Given the description of an element on the screen output the (x, y) to click on. 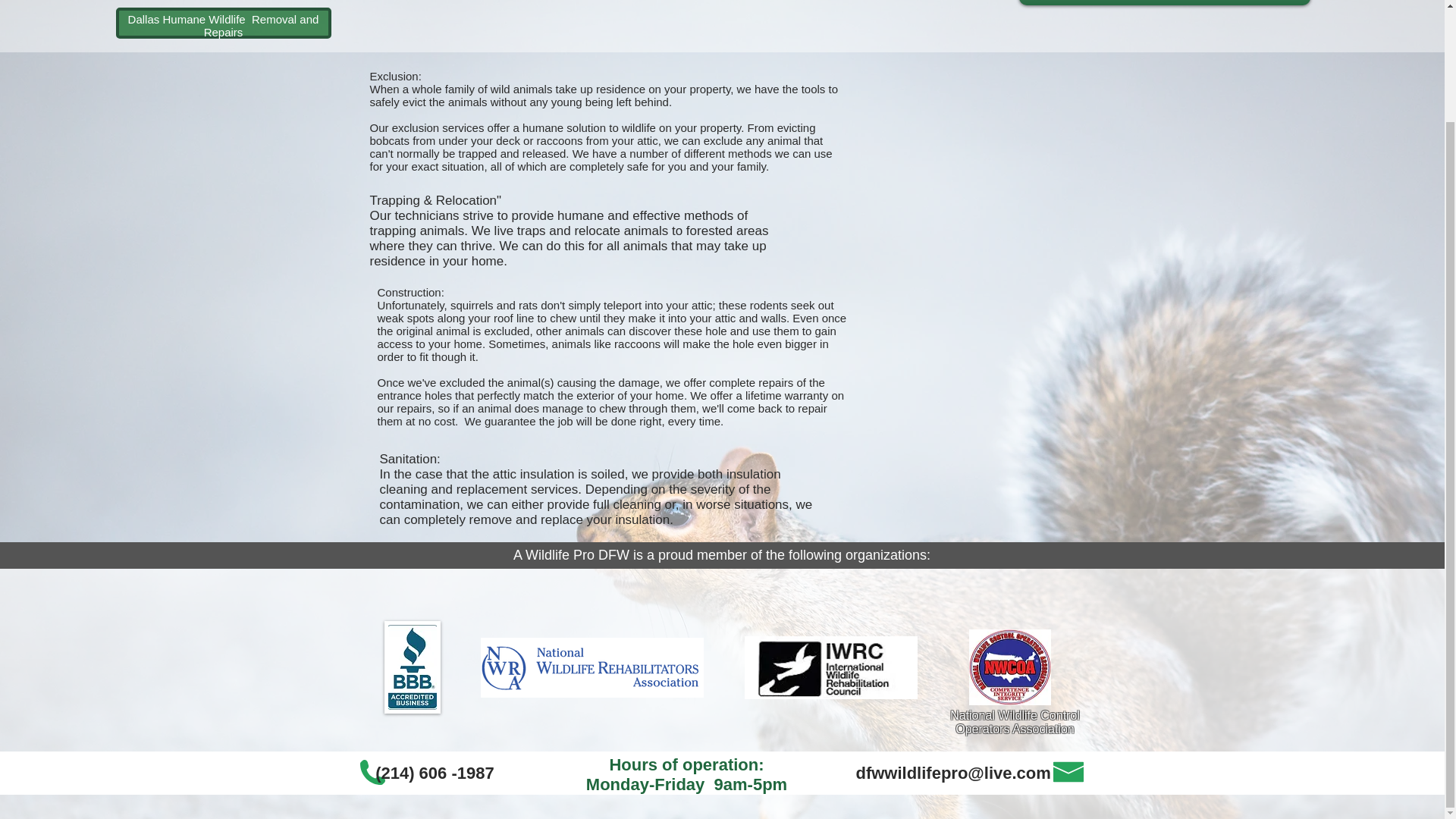
Found a wild animal needing help? Click here (1164, 2)
Dallas Humane Wildlife  Removal and Repairs (223, 25)
iwrc.jpg (830, 667)
